Given the description of an element on the screen output the (x, y) to click on. 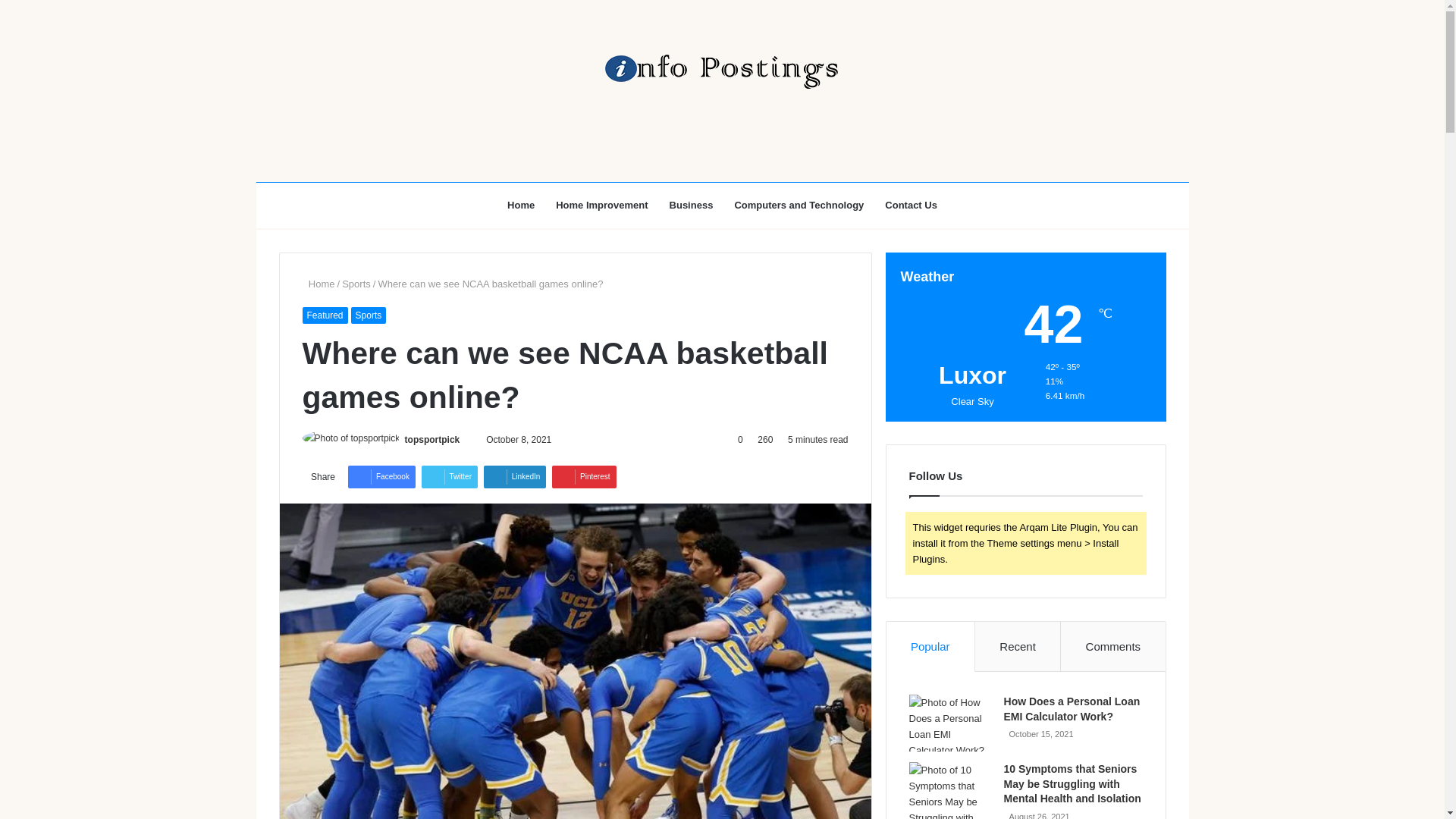
Contact Us (911, 205)
Computers and Technology (799, 205)
Home (520, 205)
Business (691, 205)
topsportpick (432, 439)
Pinterest (583, 477)
Facebook (380, 477)
Pinterest (583, 477)
Featured (324, 315)
Twitter (449, 477)
Home Improvement (601, 205)
Facebook (380, 477)
Sports (356, 283)
Sports (368, 315)
topsportpick (432, 439)
